Given the description of an element on the screen output the (x, y) to click on. 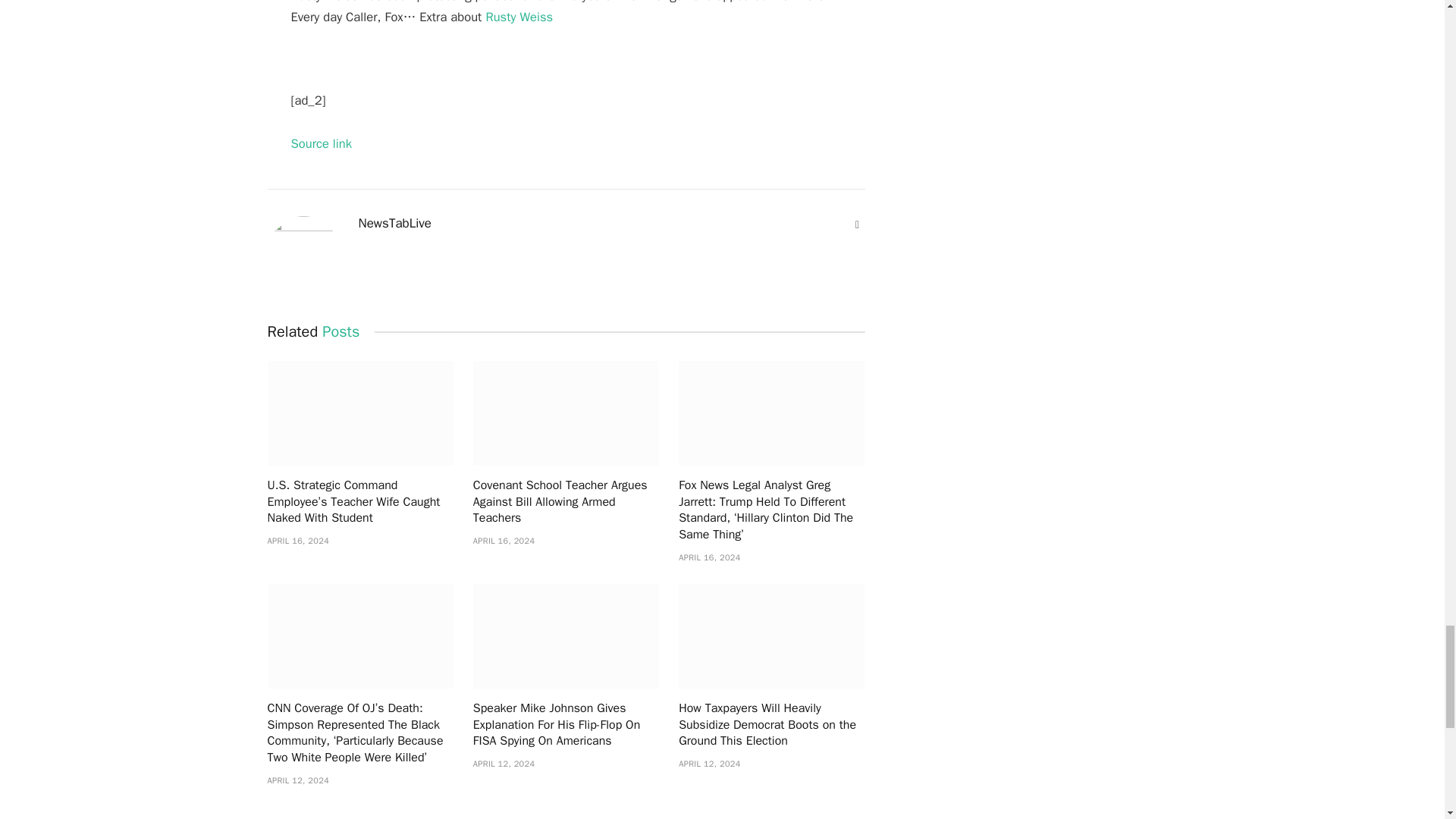
Posts by NewsTabLive (394, 223)
Website (856, 224)
